Given the description of an element on the screen output the (x, y) to click on. 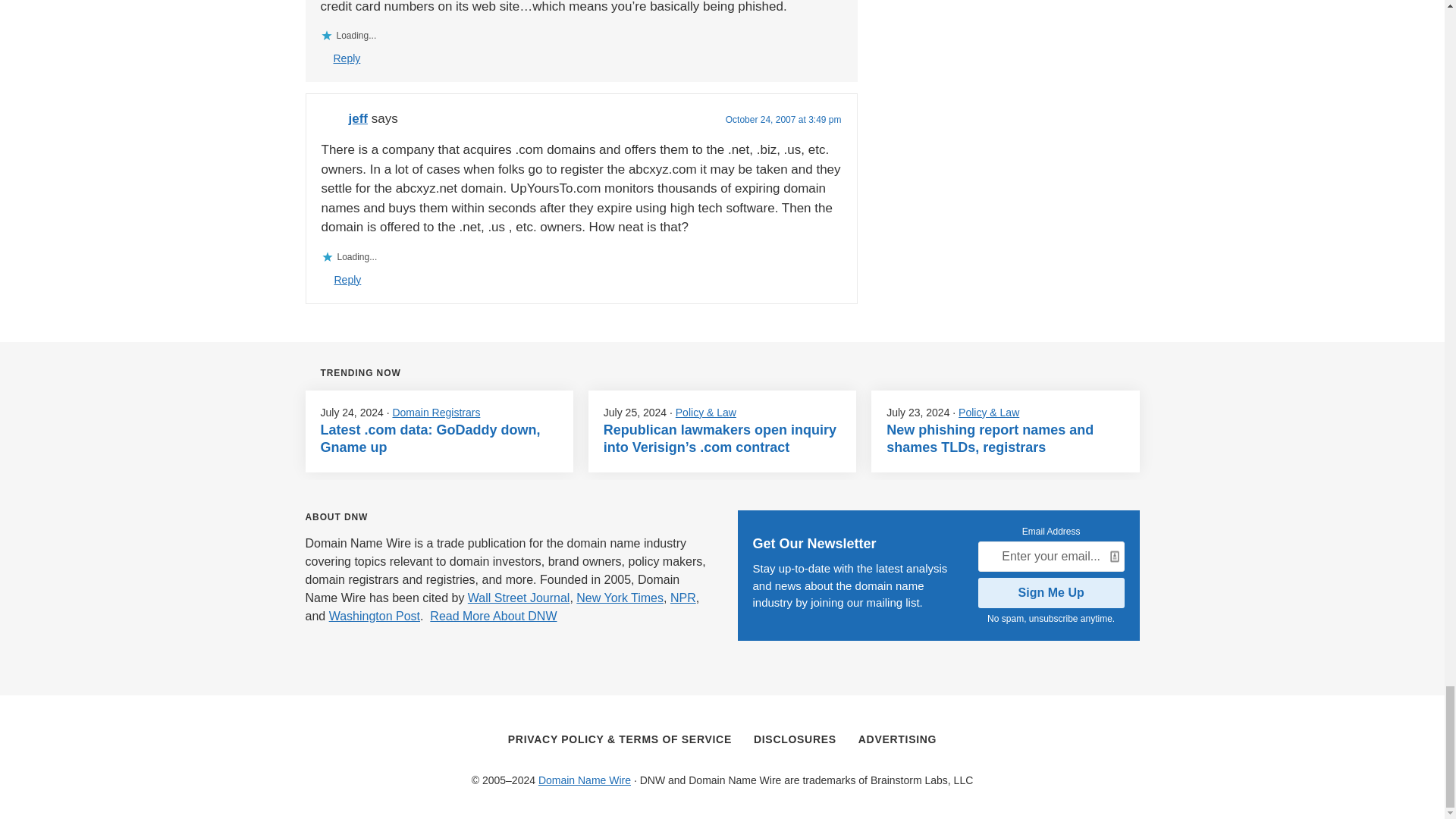
Sign Me Up (1051, 593)
